Given the description of an element on the screen output the (x, y) to click on. 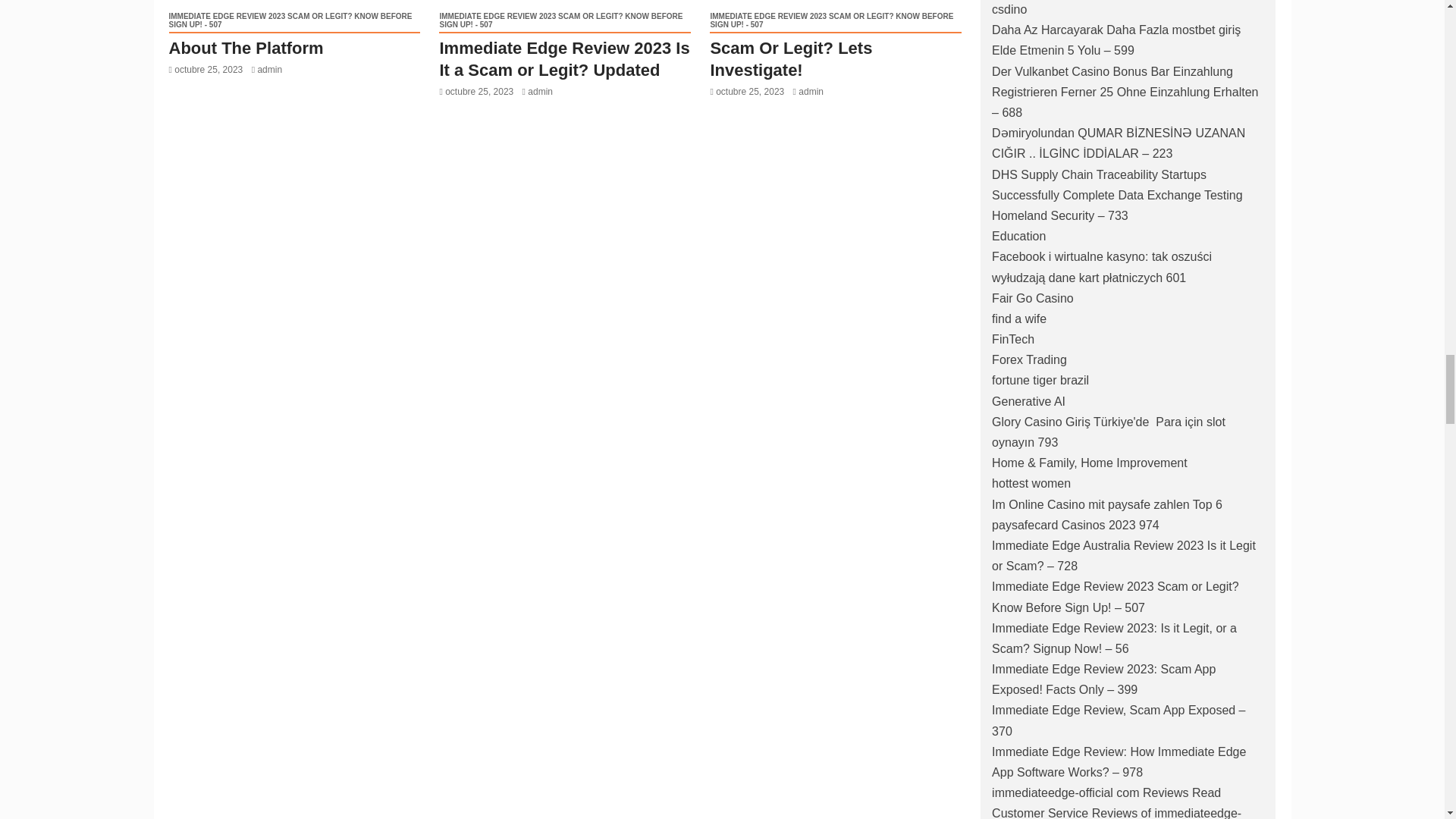
Immediate Edge Review 2023 Is It a Scam or Legit? Updated (563, 58)
About The Platform (245, 47)
admin (269, 69)
admin (540, 91)
